Given the description of an element on the screen output the (x, y) to click on. 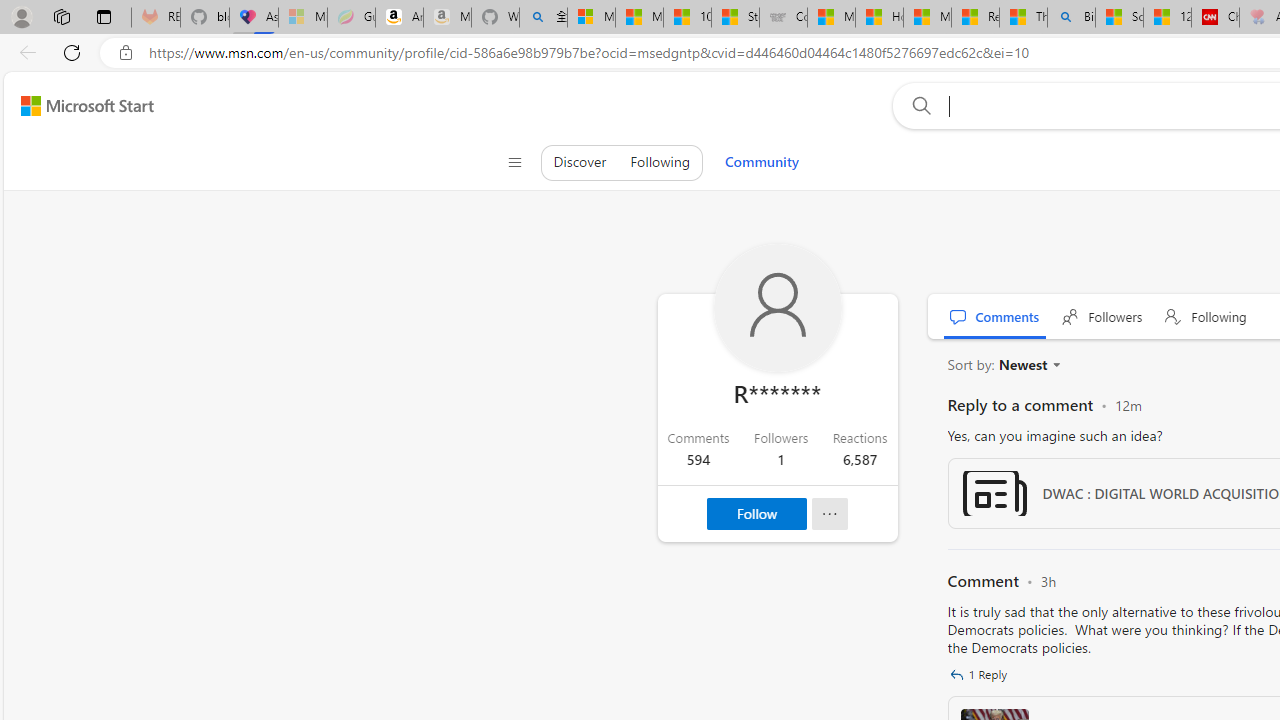
Class: control icon-only (514, 162)
Class: cwt-icon-vector (955, 674)
Profile Picture (777, 308)
 Comments (995, 316)
